Given the description of an element on the screen output the (x, y) to click on. 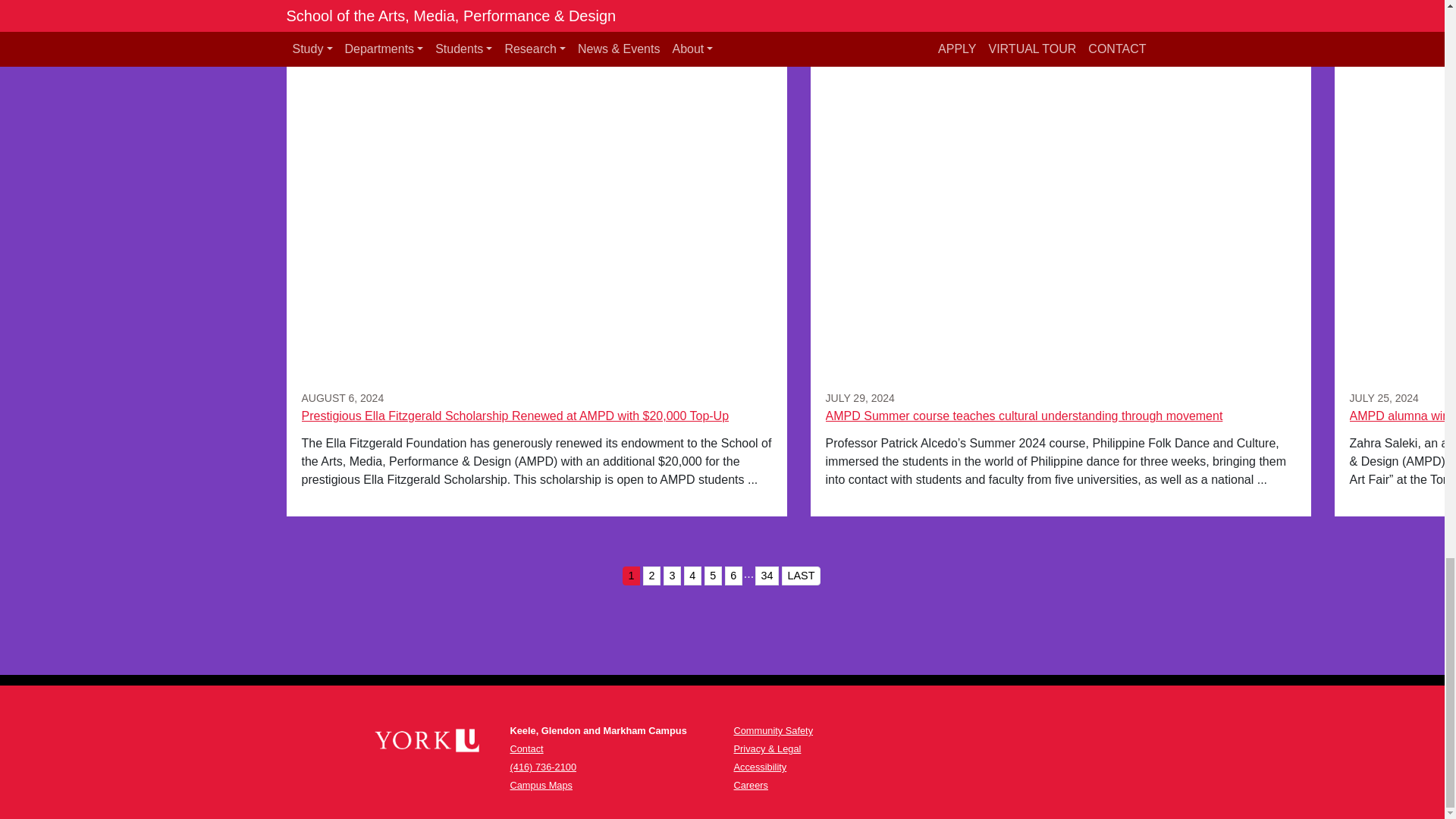
2 (652, 575)
34 (766, 575)
5 (713, 575)
3 (672, 575)
6 (733, 575)
4 (692, 575)
